Given the description of an element on the screen output the (x, y) to click on. 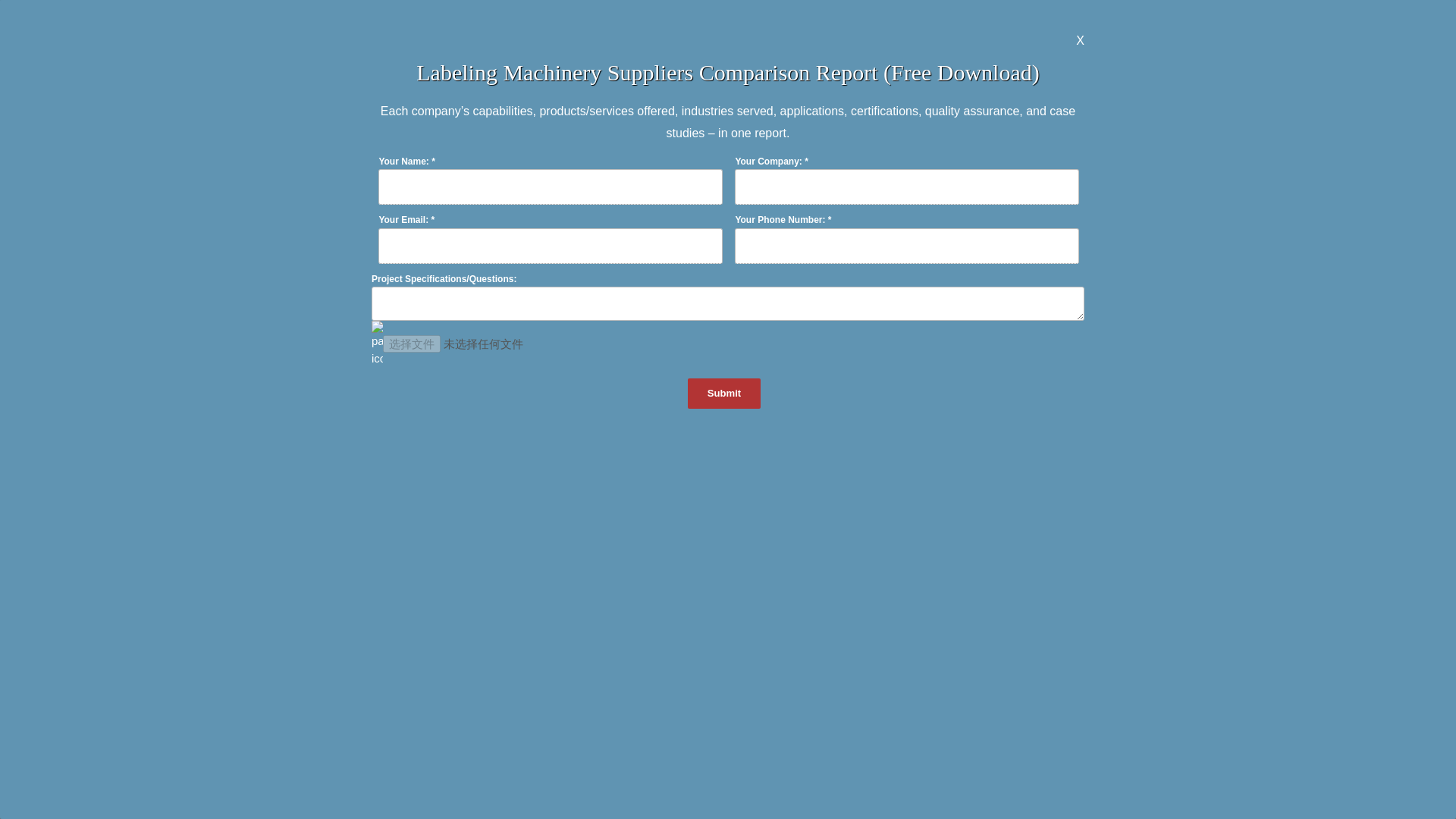
JN White (201, 284)
REQUEST A QUOTE (1281, 58)
Packaging Equipment (1220, 571)
Matthews Marking Systems Logo (723, 238)
Photo Gallery (1143, 18)
Label Mill Logo (984, 238)
Plastic Bags (1220, 807)
CO2 Lasers (727, 807)
JN White Logo (201, 243)
Name Plates (235, 807)
Contact Us (1052, 18)
Marking Machinery (251, 18)
Request For Quote (727, 589)
Home (948, 18)
